Given the description of an element on the screen output the (x, y) to click on. 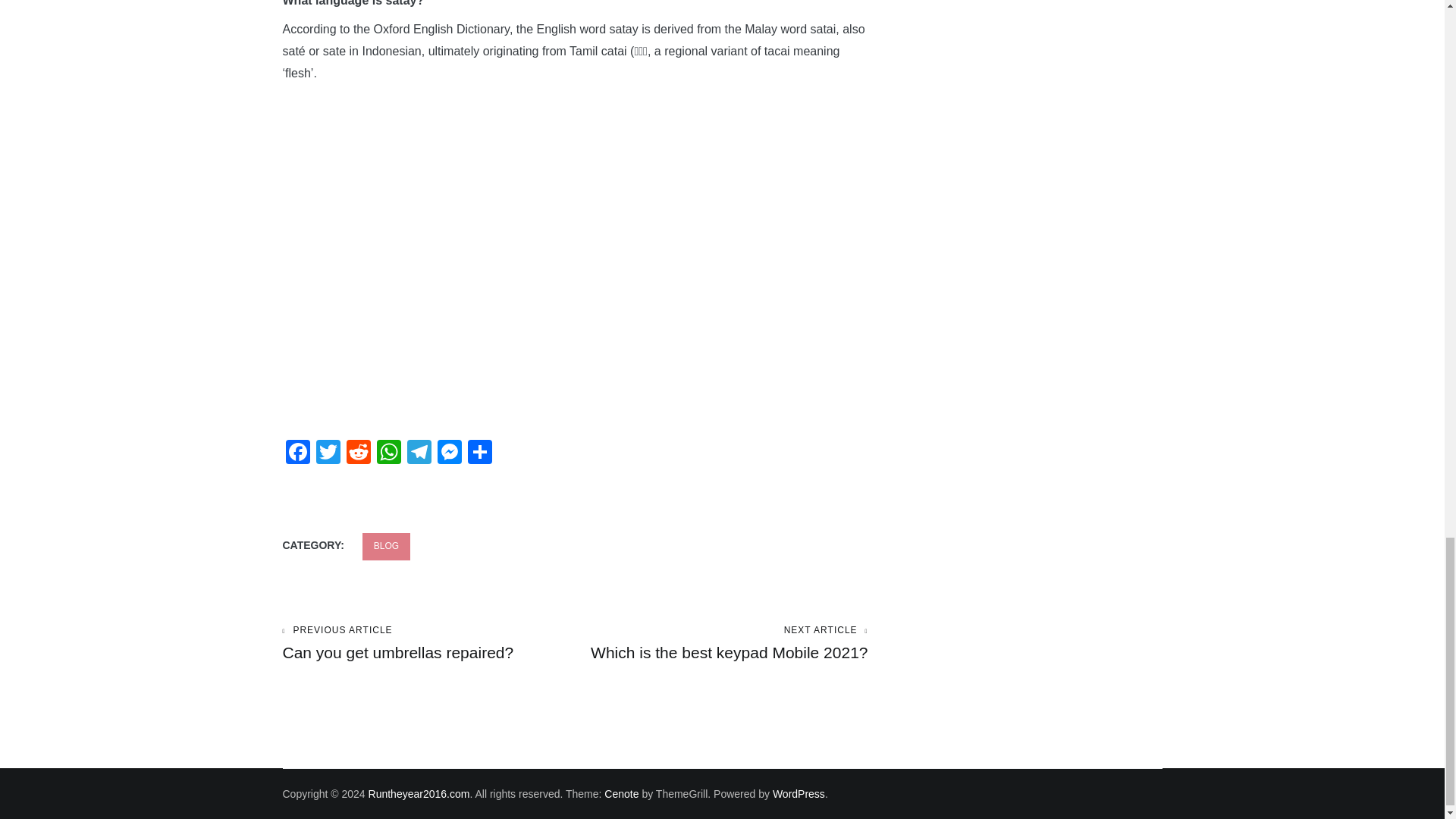
BLOG (386, 546)
WordPress (799, 793)
Messenger (448, 453)
Runtheyear2016.com (419, 793)
Twitter (327, 453)
WhatsApp (387, 453)
Telegram (418, 453)
Cenote (621, 793)
WhatsApp (387, 453)
Twitter (327, 453)
